Given the description of an element on the screen output the (x, y) to click on. 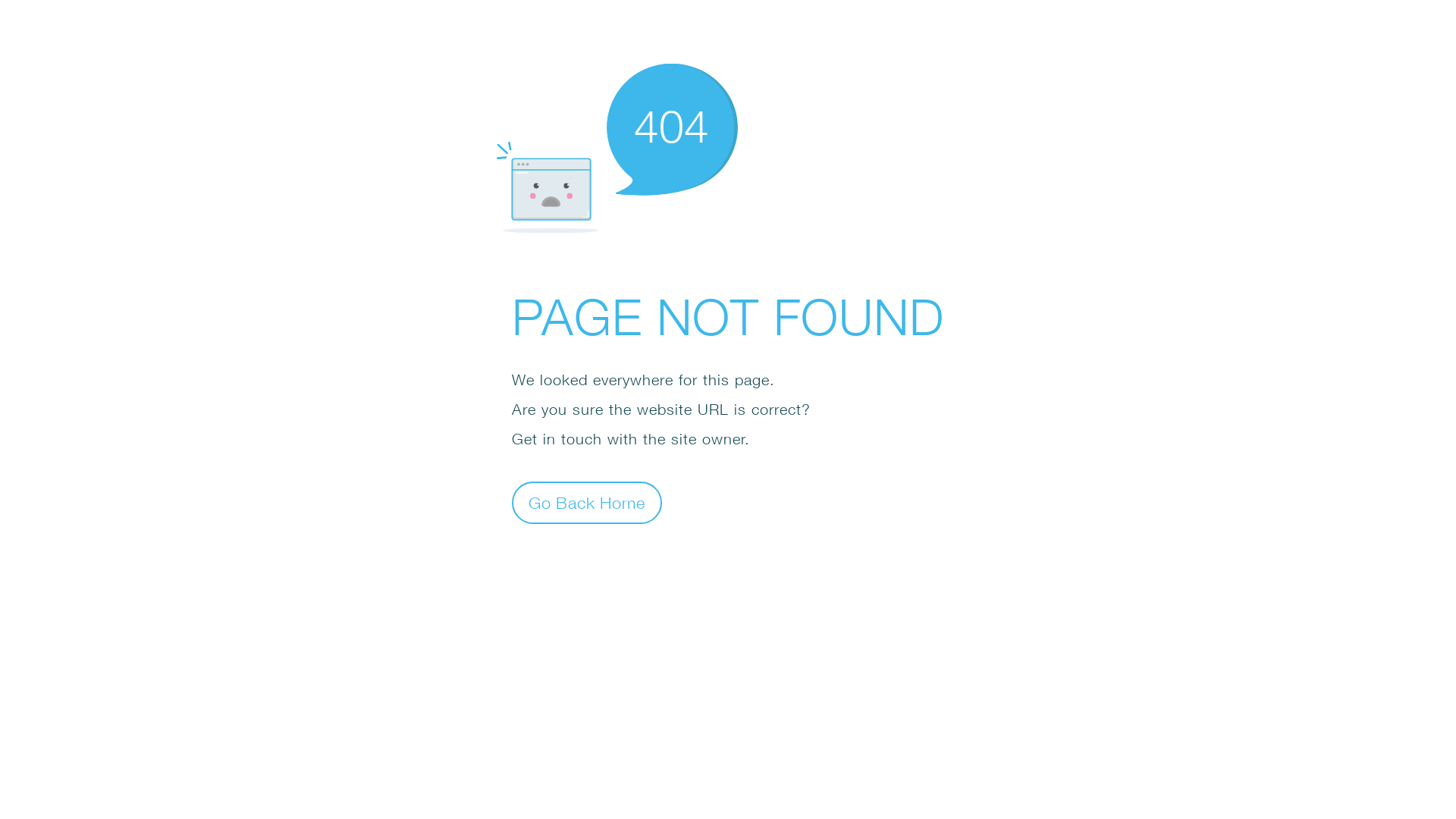
Go Back Home Element type: text (586, 502)
